Given the description of an element on the screen output the (x, y) to click on. 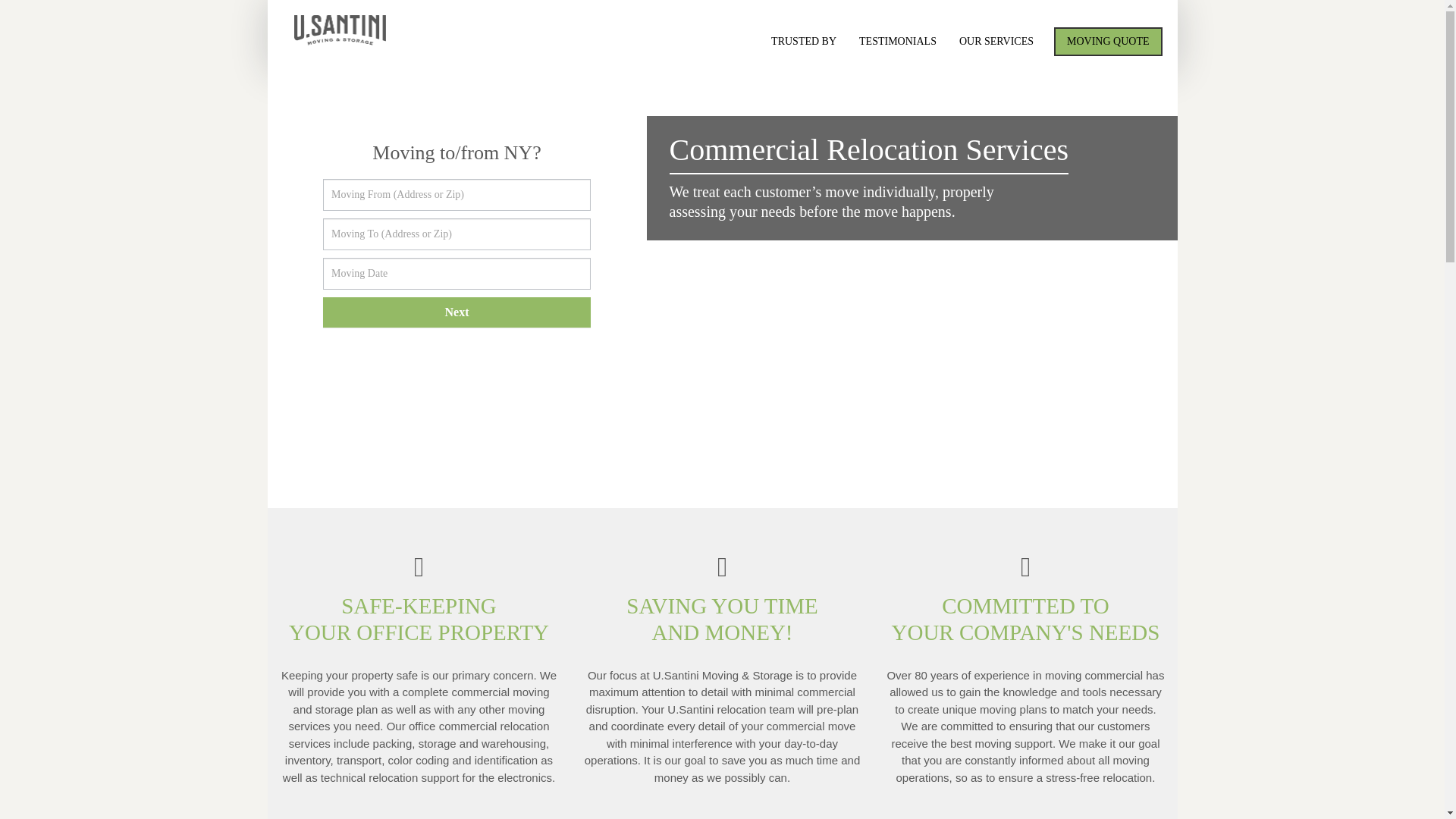
TRUSTED BY (803, 41)
MOVING QUOTE (1107, 41)
TESTIMONIALS (897, 41)
OUR SERVICES (996, 41)
Next (457, 312)
Next (457, 312)
